Given the description of an element on the screen output the (x, y) to click on. 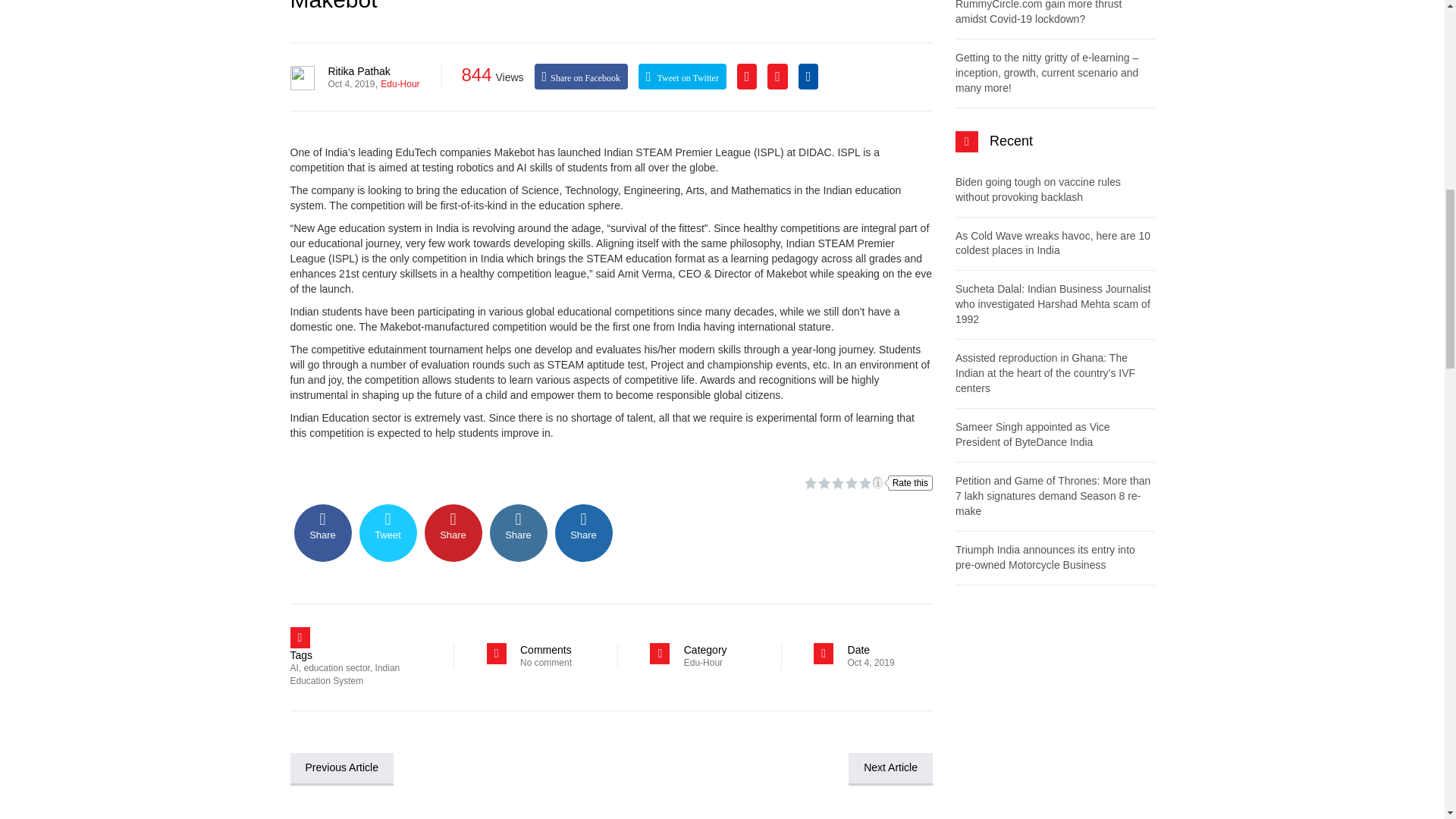
Share on LinkedIn (518, 532)
Share on Pinterest (453, 532)
Advertisement (1054, 713)
Share on Digg (583, 532)
Share on Twitter (387, 532)
Share on Facebook (323, 532)
